Given the description of an element on the screen output the (x, y) to click on. 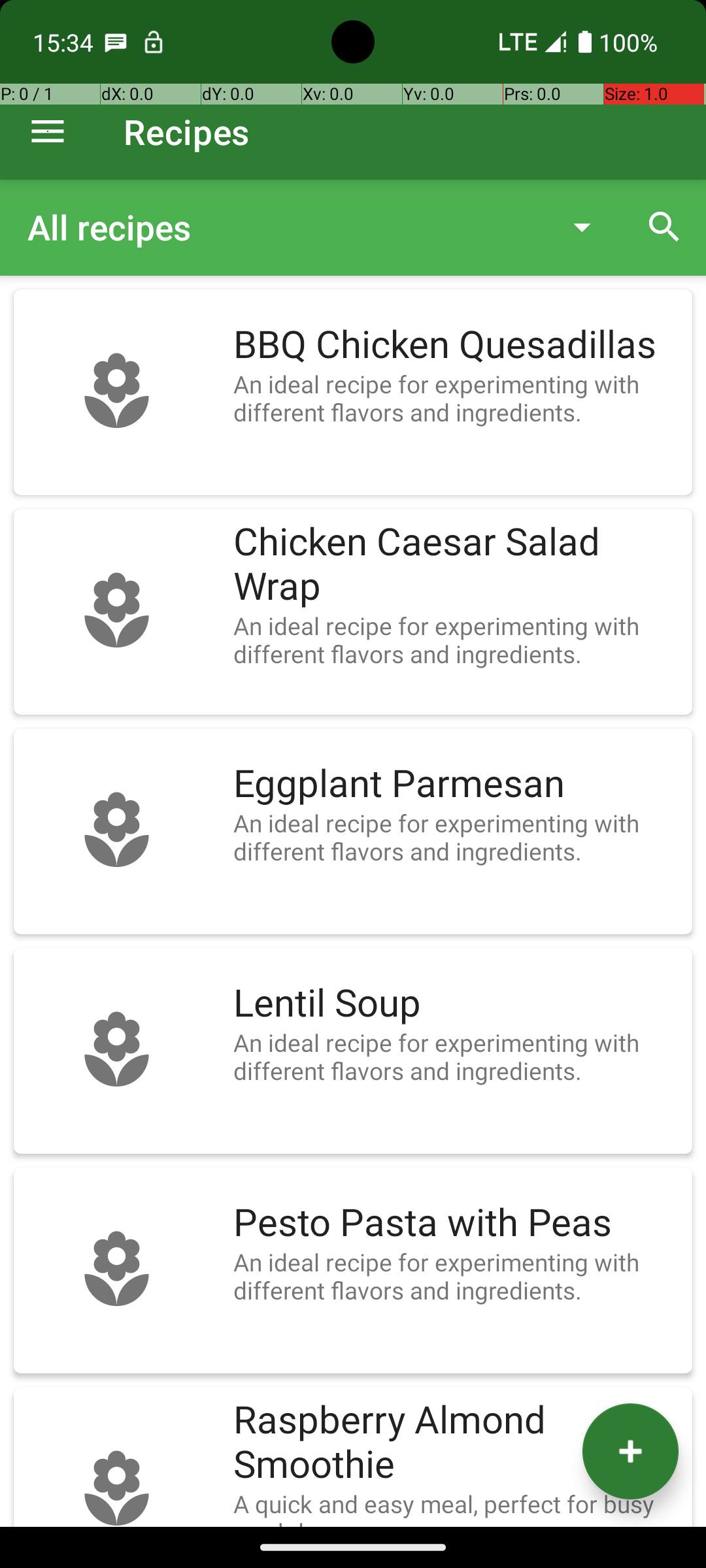
Pesto Pasta with Peas Element type: android.widget.TextView (455, 1222)
Raspberry Almond Smoothie Element type: android.widget.TextView (455, 1442)
